Given the description of an element on the screen output the (x, y) to click on. 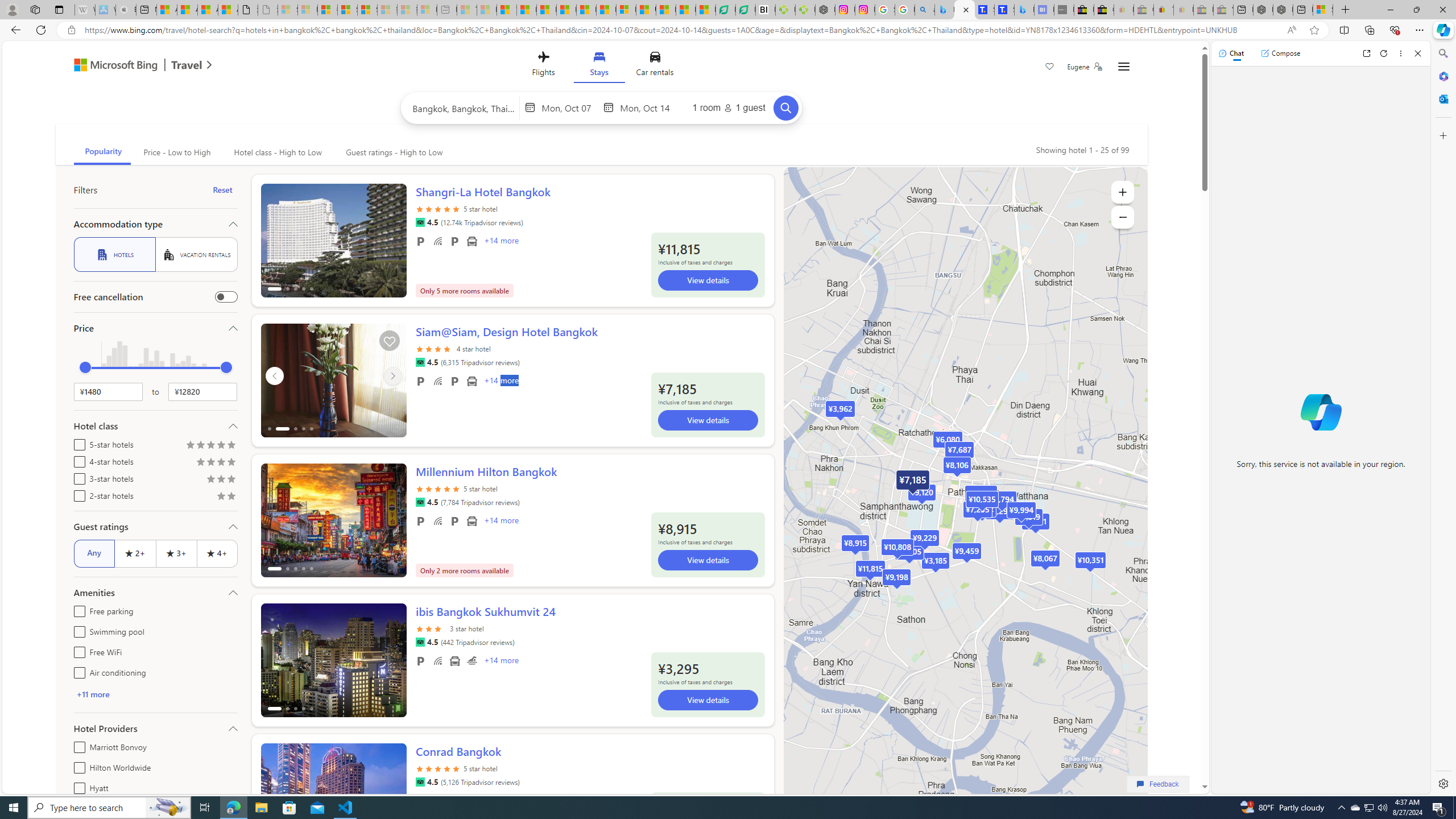
View details (708, 706)
Save (1049, 67)
Car rentals (654, 65)
Guest ratings - High to Low (392, 152)
min  (84, 367)
alabama high school quarterback dies - Search (924, 9)
Zoom in (1122, 191)
LendingTree - Compare Lenders (745, 9)
Free parking (420, 660)
